Given the description of an element on the screen output the (x, y) to click on. 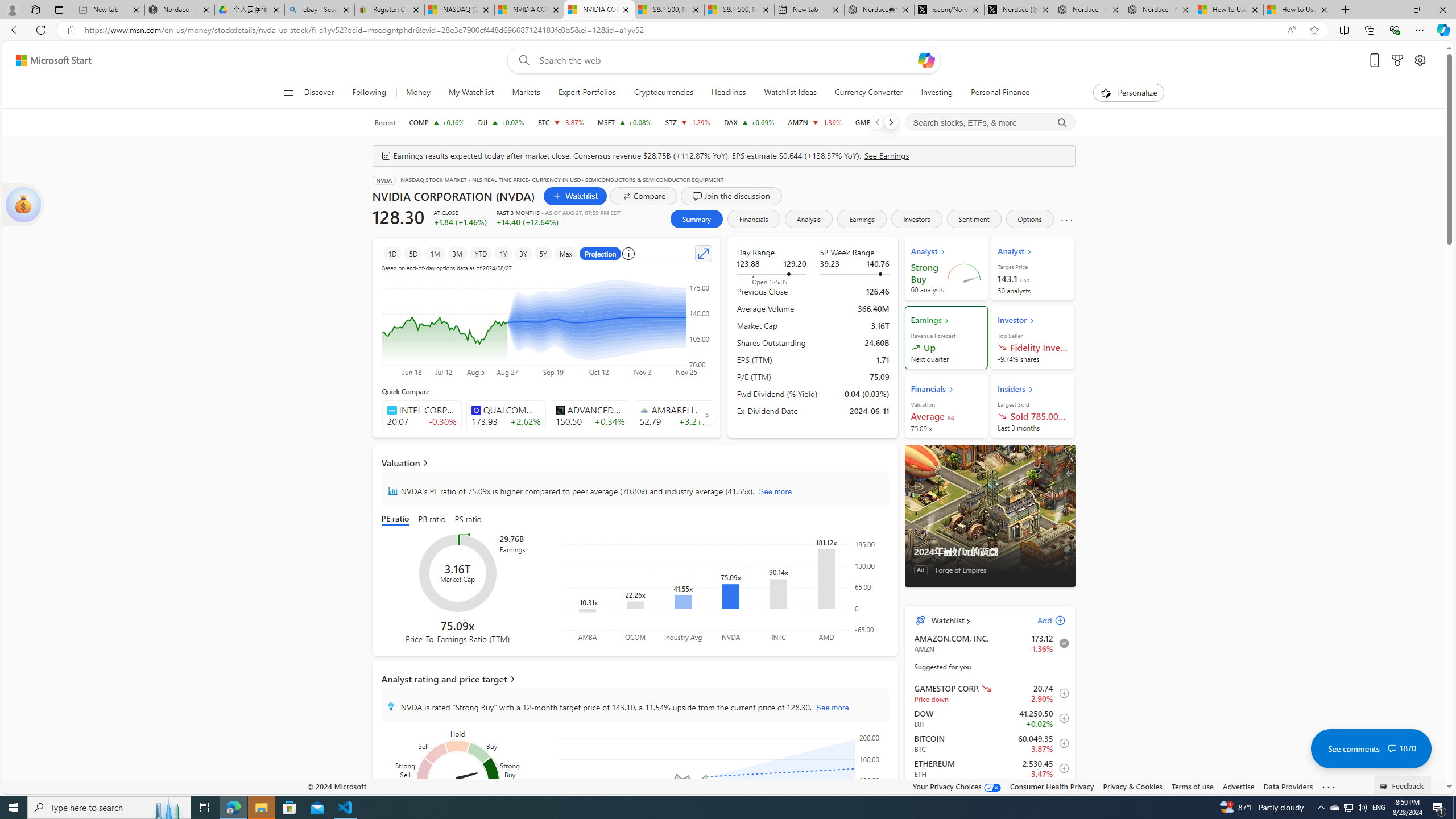
Previous (876, 122)
Max (565, 253)
DJI DOW increase 41,250.50 +9.98 +0.02% (500, 122)
Nordace (@NordaceOfficial) / X (1018, 9)
YTD (480, 253)
Enter your search term (726, 59)
Your Privacy Choices (956, 785)
Add (1041, 620)
PS ratio (467, 520)
AMZN AMAZON.COM, INC. decrease 173.12 -2.38 -1.36% (814, 122)
Sentiment (973, 218)
show card (22, 204)
Valuation (635, 462)
Advertise (1238, 785)
